Given the description of an element on the screen output the (x, y) to click on. 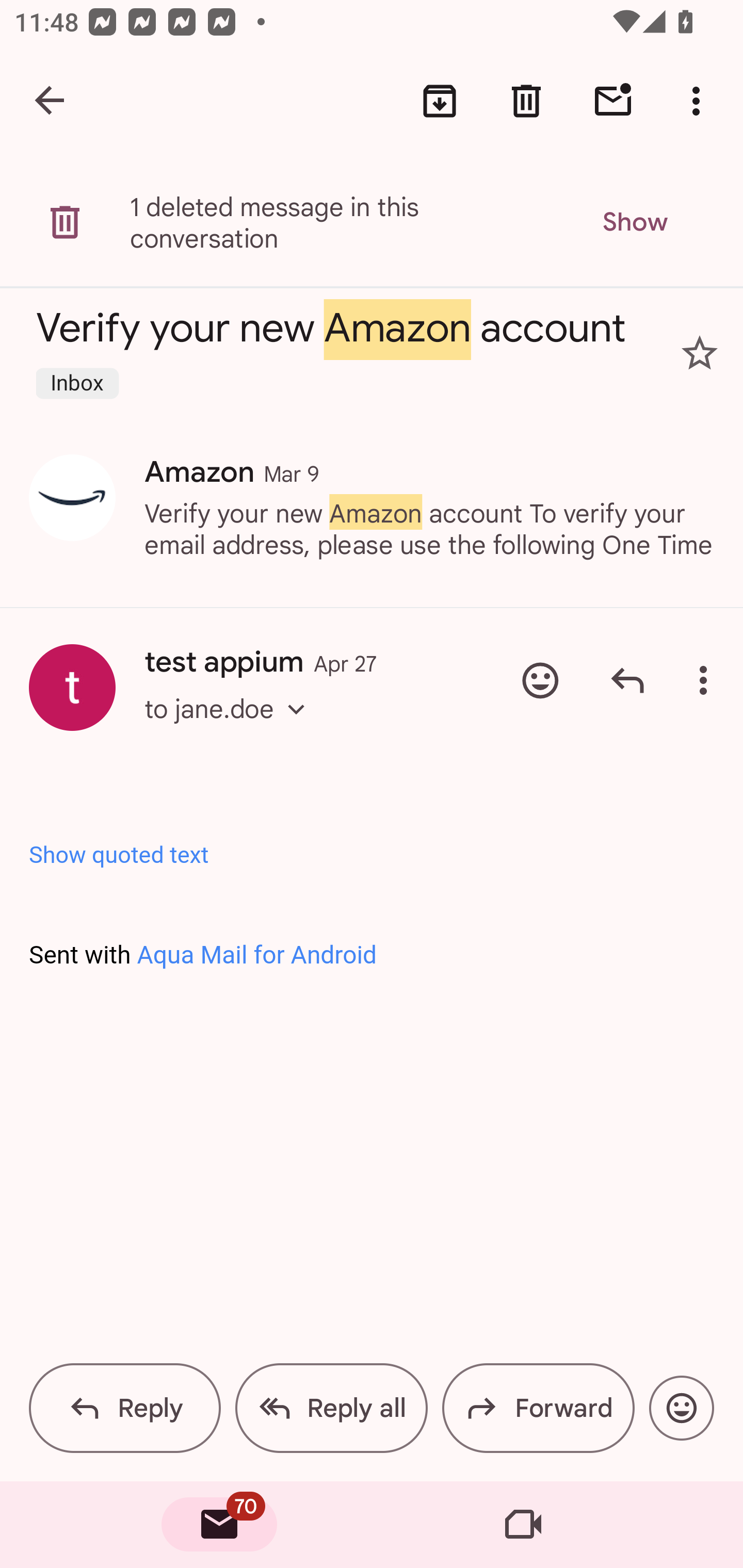
Navigate up (50, 101)
Archive (439, 101)
Delete (525, 101)
Mark unread (612, 101)
More options (699, 101)
Show (634, 222)
Add star (699, 353)
Show contact information for Amazon (71, 497)
Add emoji reaction (540, 680)
Reply (626, 680)
More options (706, 680)
Show contact information for test appium (71, 687)
to jane.doe (231, 726)
Reply (124, 1407)
Reply all (331, 1407)
Forward (538, 1407)
Add emoji reaction (681, 1407)
Meet (523, 1524)
